Given the description of an element on the screen output the (x, y) to click on. 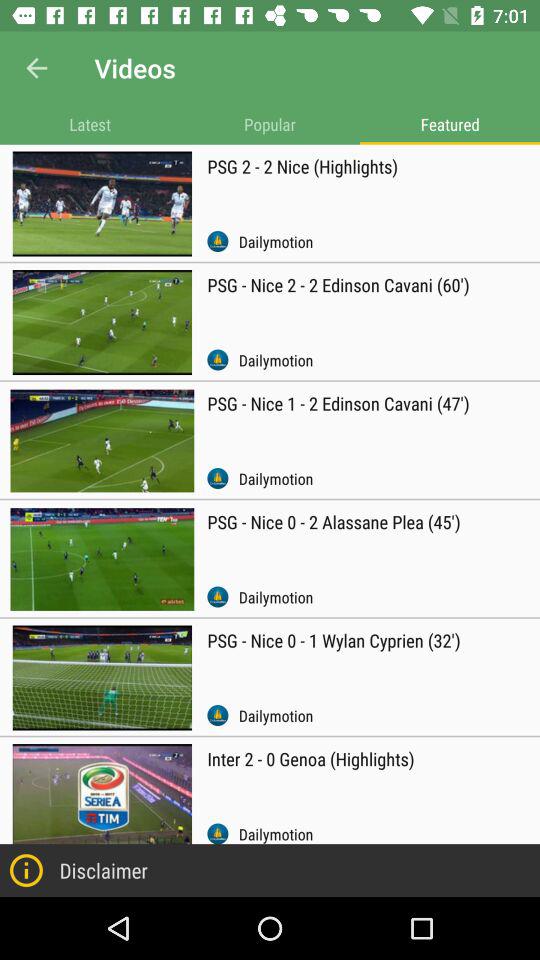
turn on app next to the featured icon (270, 124)
